Given the description of an element on the screen output the (x, y) to click on. 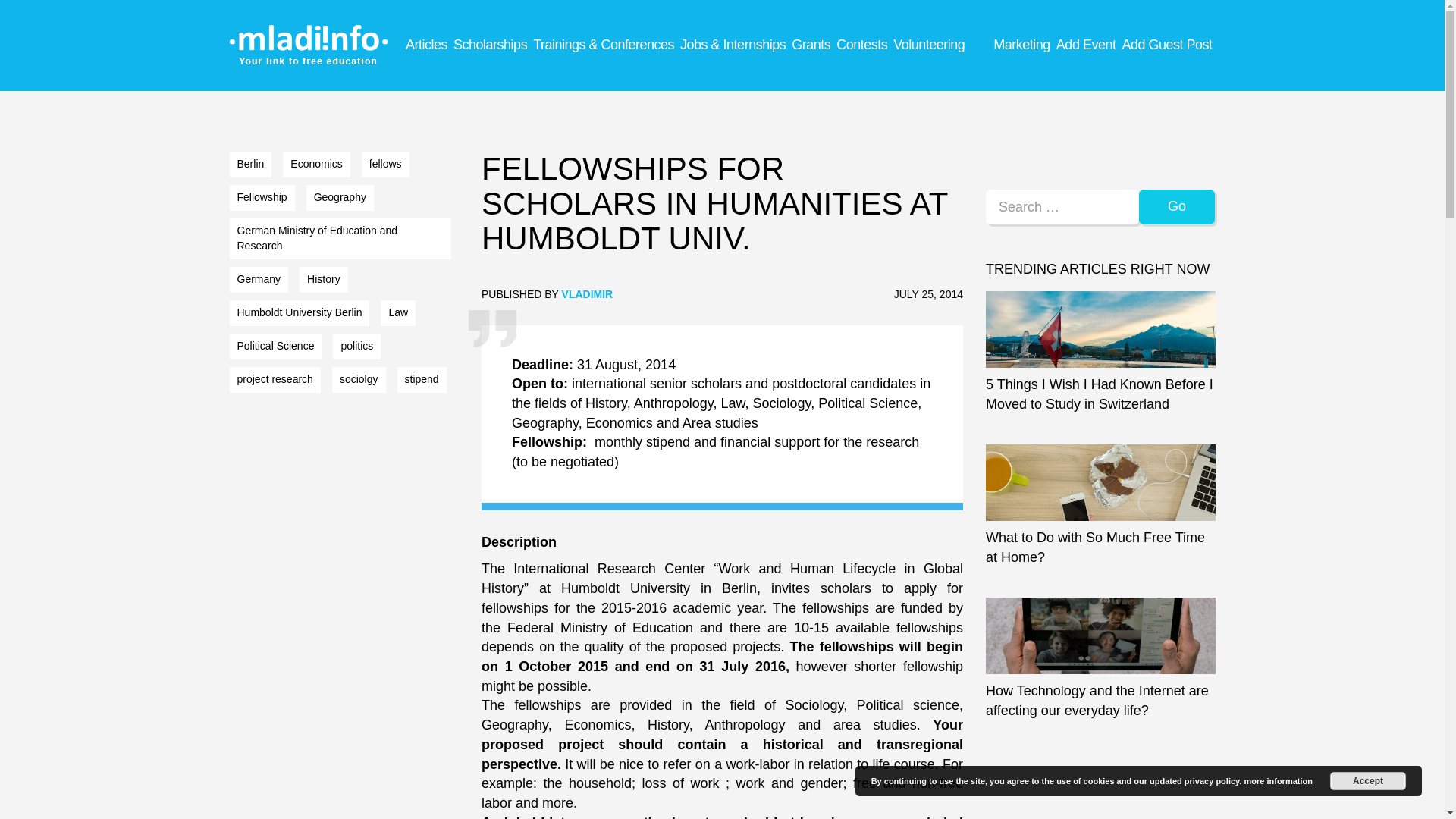
Contests (860, 44)
11:10 am (927, 294)
Go (1176, 206)
Add Guest Post (1166, 44)
Add Event (1085, 44)
Grants (810, 44)
Volunteering (928, 44)
Articles (426, 44)
VLADIMIR (587, 294)
Mladiinfo (308, 39)
Go (1176, 206)
Marketing (1021, 44)
View all posts by vladimir (587, 294)
JULY 25, 2014 (927, 294)
Scholarships (489, 44)
